Given the description of an element on the screen output the (x, y) to click on. 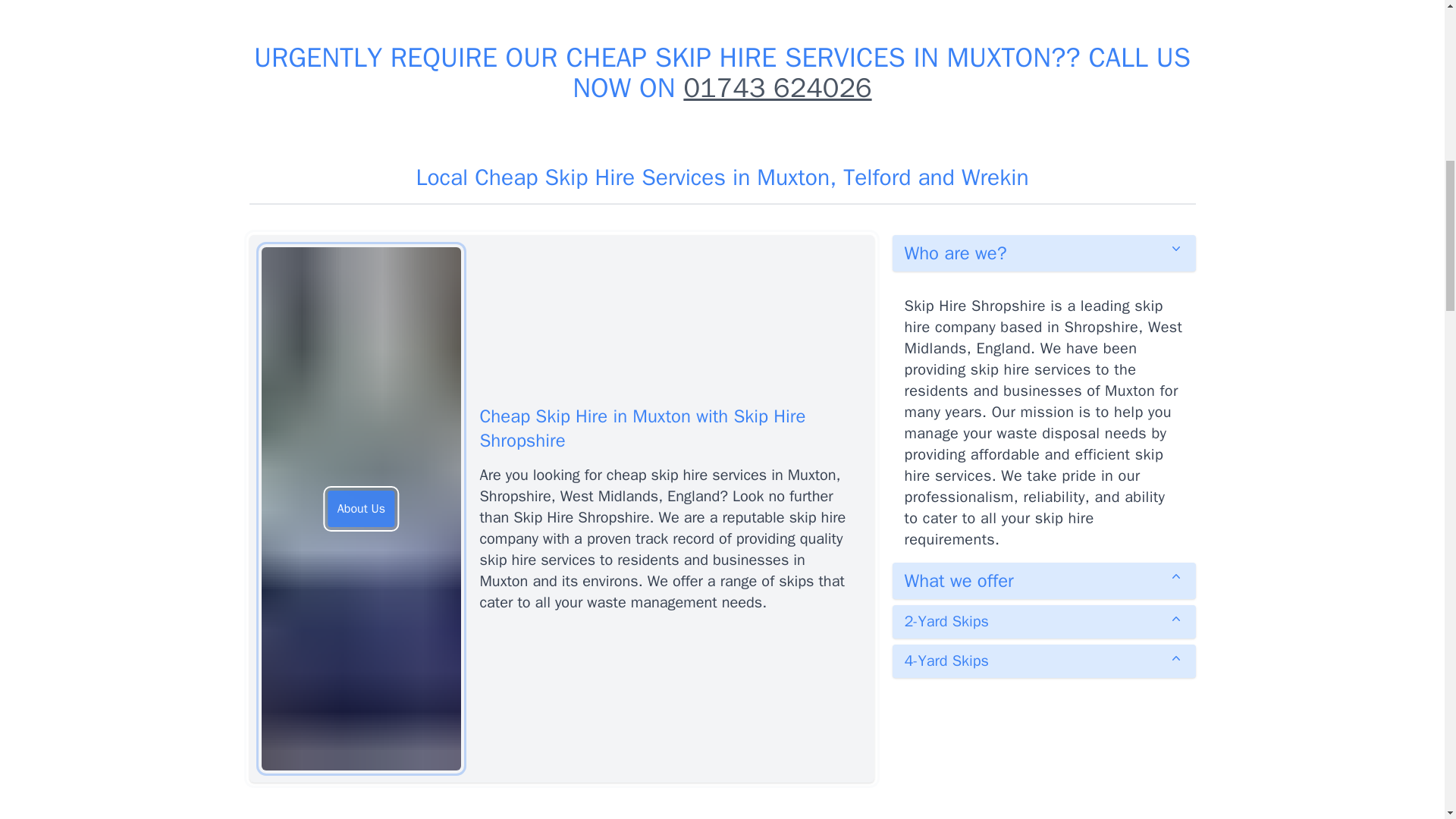
About Us (361, 508)
4-Yard Skips (1043, 661)
2-Yard Skips (1043, 621)
Who are we? (1043, 253)
01743 624026 (776, 87)
What we offer (1043, 580)
